Given the description of an element on the screen output the (x, y) to click on. 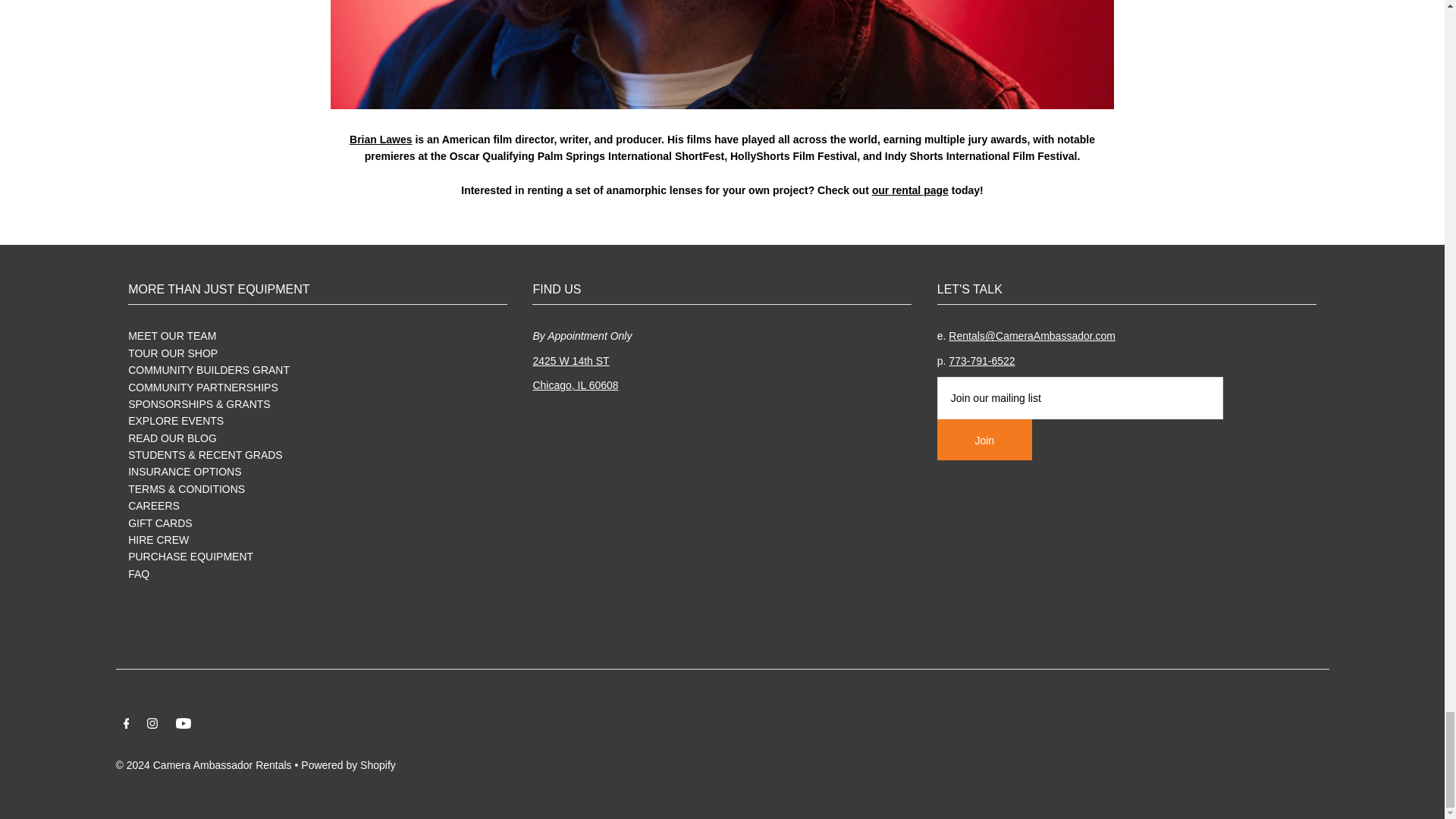
Join (984, 439)
